Given the description of an element on the screen output the (x, y) to click on. 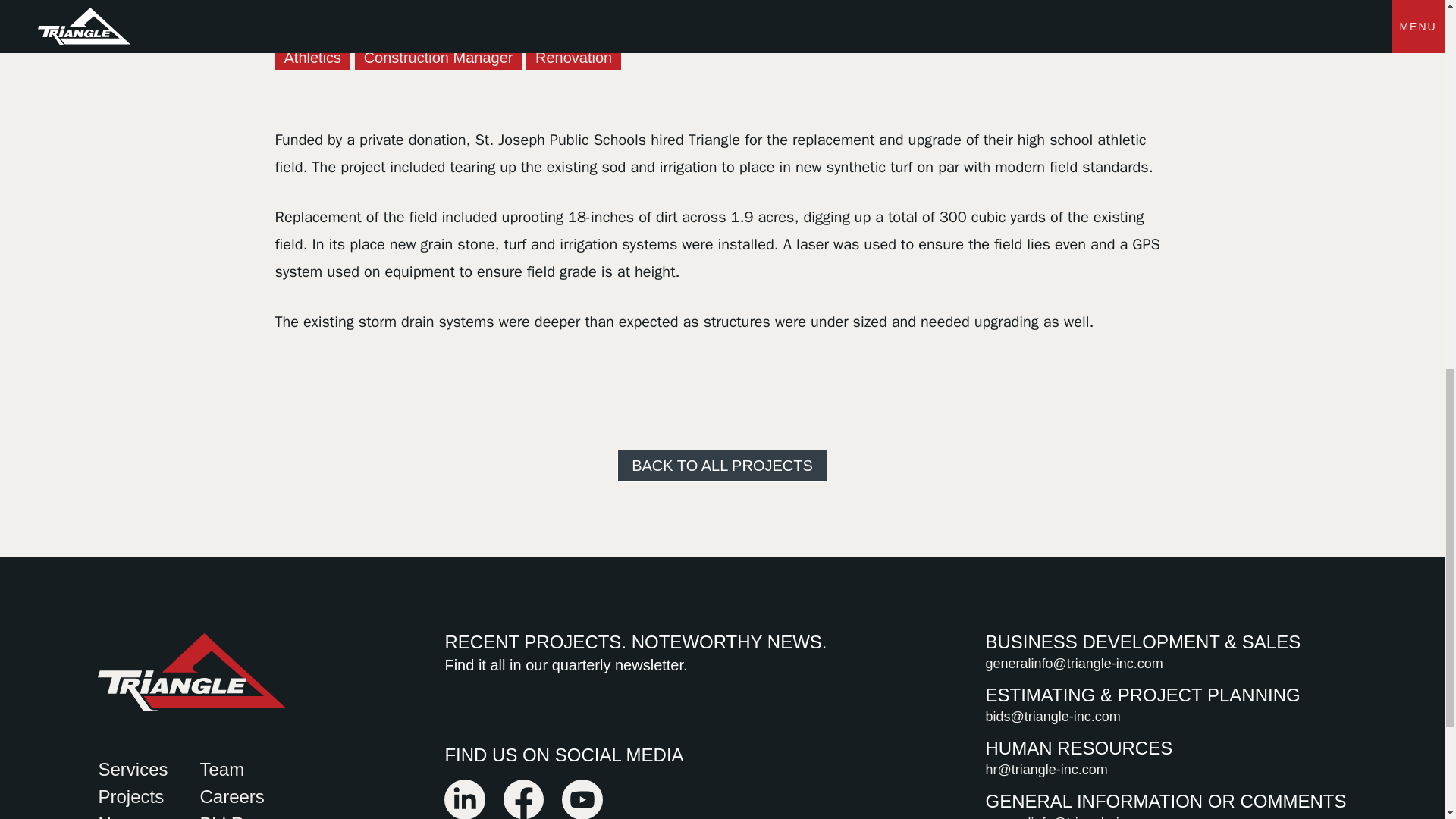
Team (221, 769)
BACK TO ALL PROJECTS (722, 465)
Careers (231, 796)
YouTube (582, 811)
Facebook (523, 810)
LinkedIn (464, 811)
News (119, 816)
Bid Room (239, 816)
Services (132, 769)
Projects (130, 796)
